Given the description of an element on the screen output the (x, y) to click on. 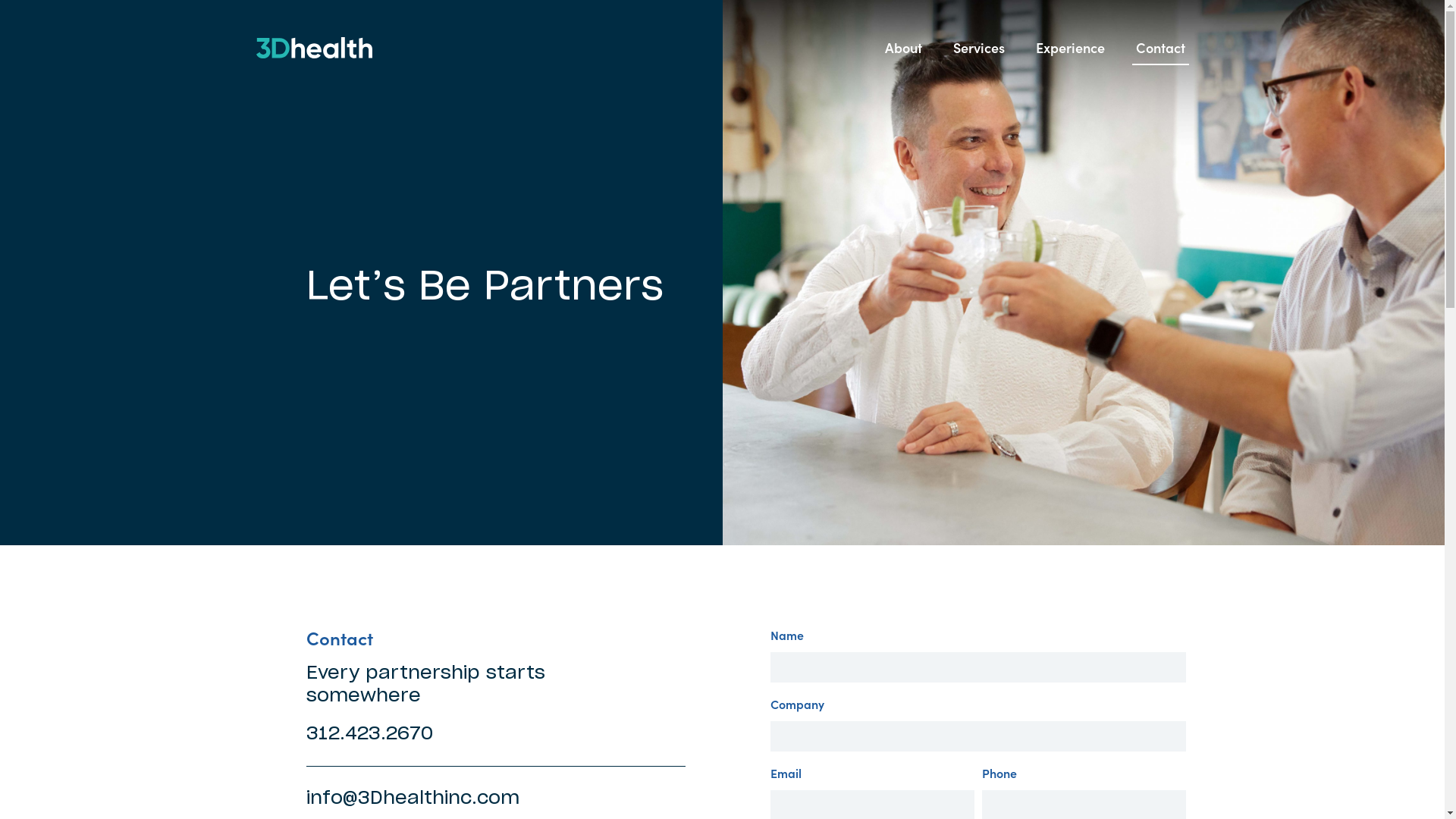
Experience Element type: text (1069, 47)
Services Element type: text (978, 47)
Contact Element type: text (1159, 47)
About Element type: text (903, 47)
